Given the description of an element on the screen output the (x, y) to click on. 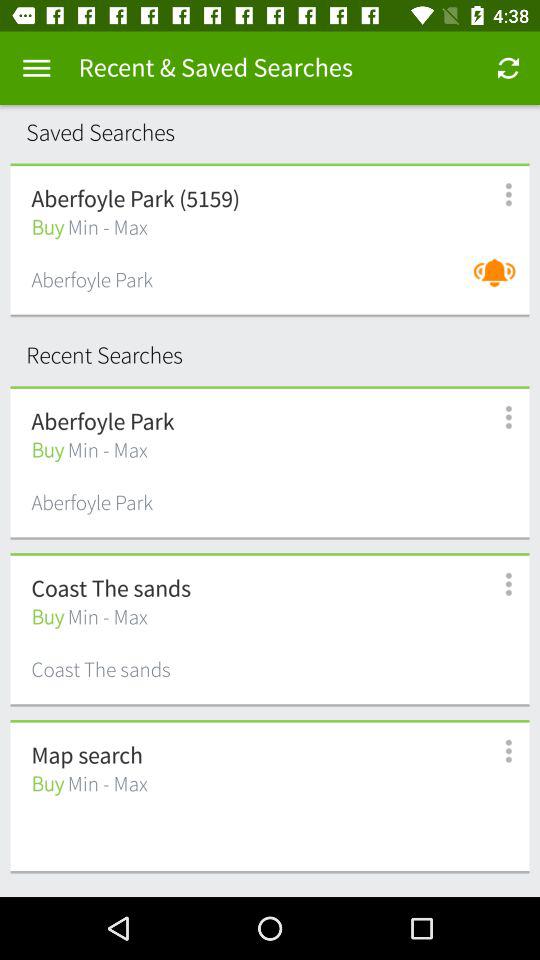
turn off the icon to the left of recent & saved searches app (36, 68)
